Given the description of an element on the screen output the (x, y) to click on. 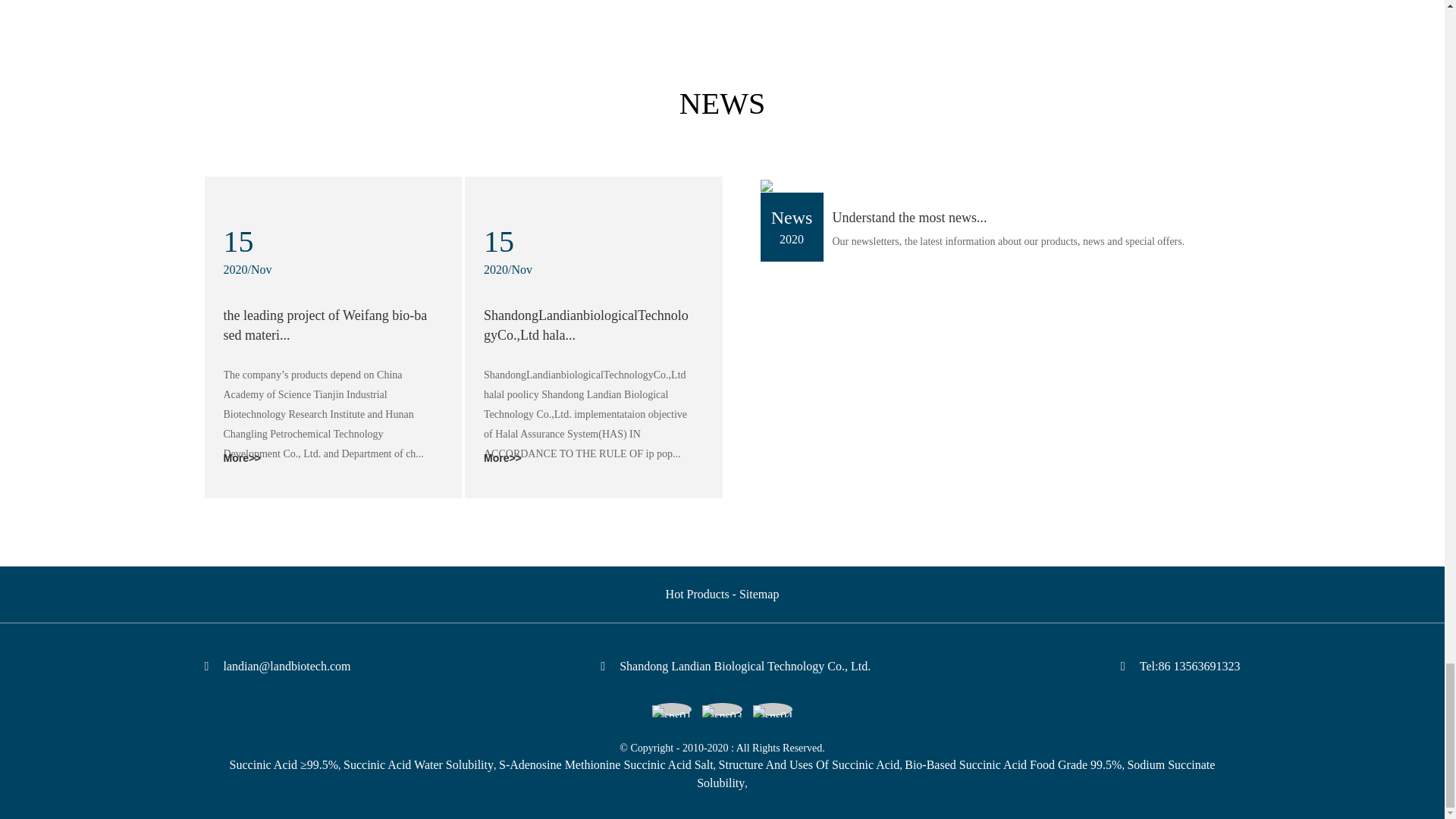
ShandongLandianbiologicalTechnologyCo.,Ltd hala... (585, 325)
Sitemap (758, 594)
Structure And Uses Of Succinic Acid (809, 764)
the leading project of Weifang bio-based materi... (324, 325)
Sodium Succinate Solubility (955, 773)
Succinic Acid Water Solubility (418, 764)
Hot Products (697, 594)
Tel:86 13563691323 (1190, 666)
S-Adenosine Methionine Succinic Acid Salt (606, 764)
Understand the most news... (909, 217)
S-Adenosine Methionine Succinic Acid Salt (606, 764)
Succinic Acid Water Solubility (418, 764)
